Given the description of an element on the screen output the (x, y) to click on. 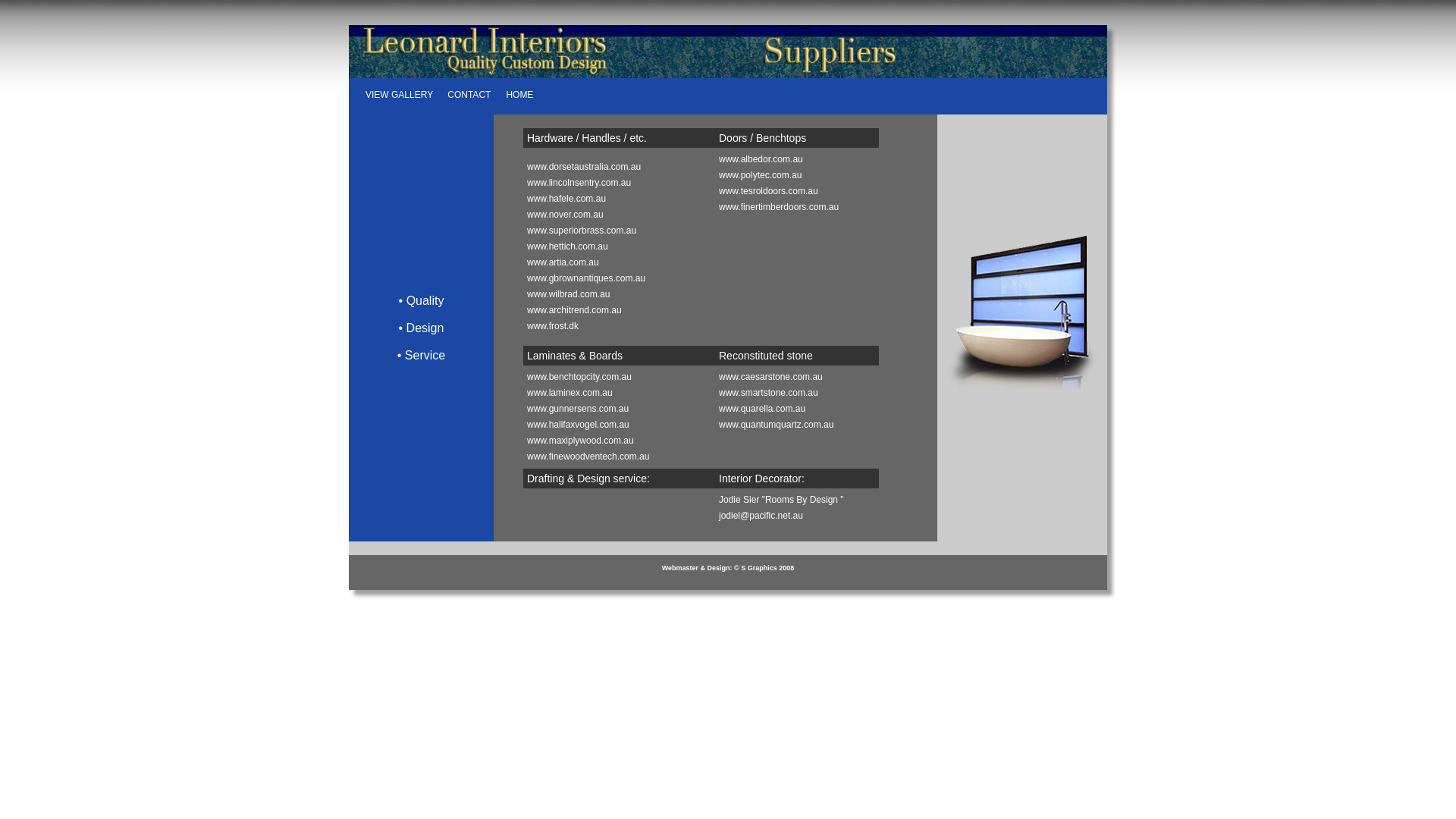
www.hafele.com.au Element type: text (566, 198)
www.frost.dk Element type: text (552, 325)
www.polytec.com.au Element type: text (759, 174)
VIEW GALLERY  Element type: text (400, 94)
www.wilbrad.com.au Element type: text (568, 293)
www.quantumquartz.com.au Element type: text (775, 424)
www.caesarstone.com.au Element type: text (770, 376)
Jodie Sier "Rooms By Design "
jodiel@pacific.net.au Element type: text (781, 507)
www.artia.com.au Element type: text (563, 262)
www.halifaxvogel.com.au
www.maxiplywood.com.au Element type: text (580, 432)
www.laminex.com.au Element type: text (569, 392)
www.finertimberdoors.com.au Element type: text (778, 206)
www.lincolnsentry.com.au Element type: text (578, 182)
www.dorsetaustralia.com.au Element type: text (583, 166)
www.quarella.com.au Element type: text (761, 408)
www.hettich.com.au Element type: text (567, 246)
www.nover.com.au Element type: text (565, 214)
CONTACT Element type: text (468, 94)
www.superiorbrass.com.au Element type: text (581, 230)
www.benchtopcity.com.au Element type: text (579, 376)
www.albedor.com.au Element type: text (760, 158)
HOME Element type: text (519, 94)
www.tesroldoors.com.au Element type: text (768, 190)
www.gunnersens.com.au Element type: text (577, 408)
www.architrend.com.au Element type: text (574, 309)
www.finewoodventech.com.au Element type: text (588, 456)
www.gbrownantiques.com.au Element type: text (586, 278)
www.smartstone.com.au Element type: text (768, 392)
